Given the description of an element on the screen output the (x, y) to click on. 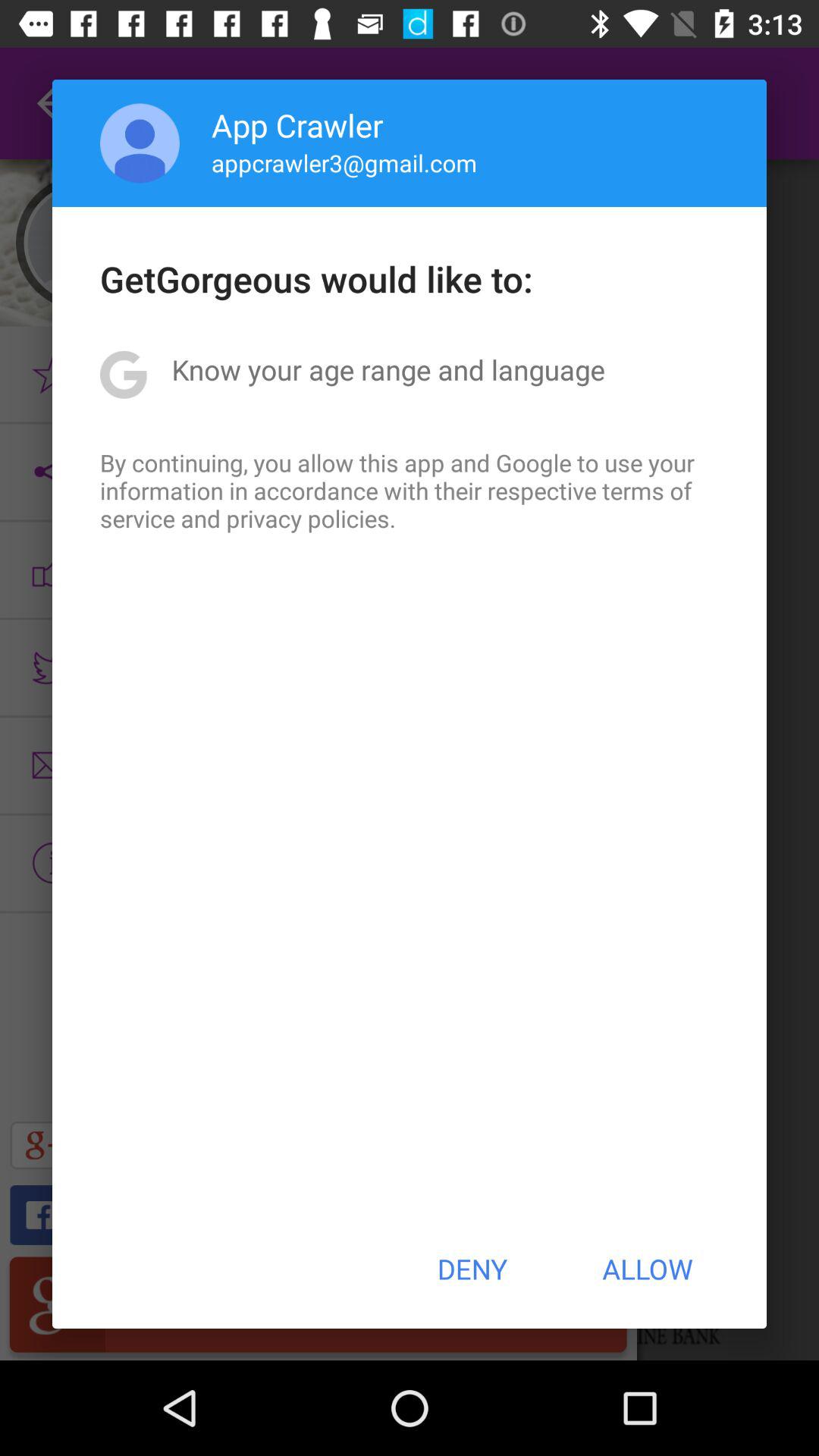
scroll to appcrawler3@gmail.com item (344, 162)
